Given the description of an element on the screen output the (x, y) to click on. 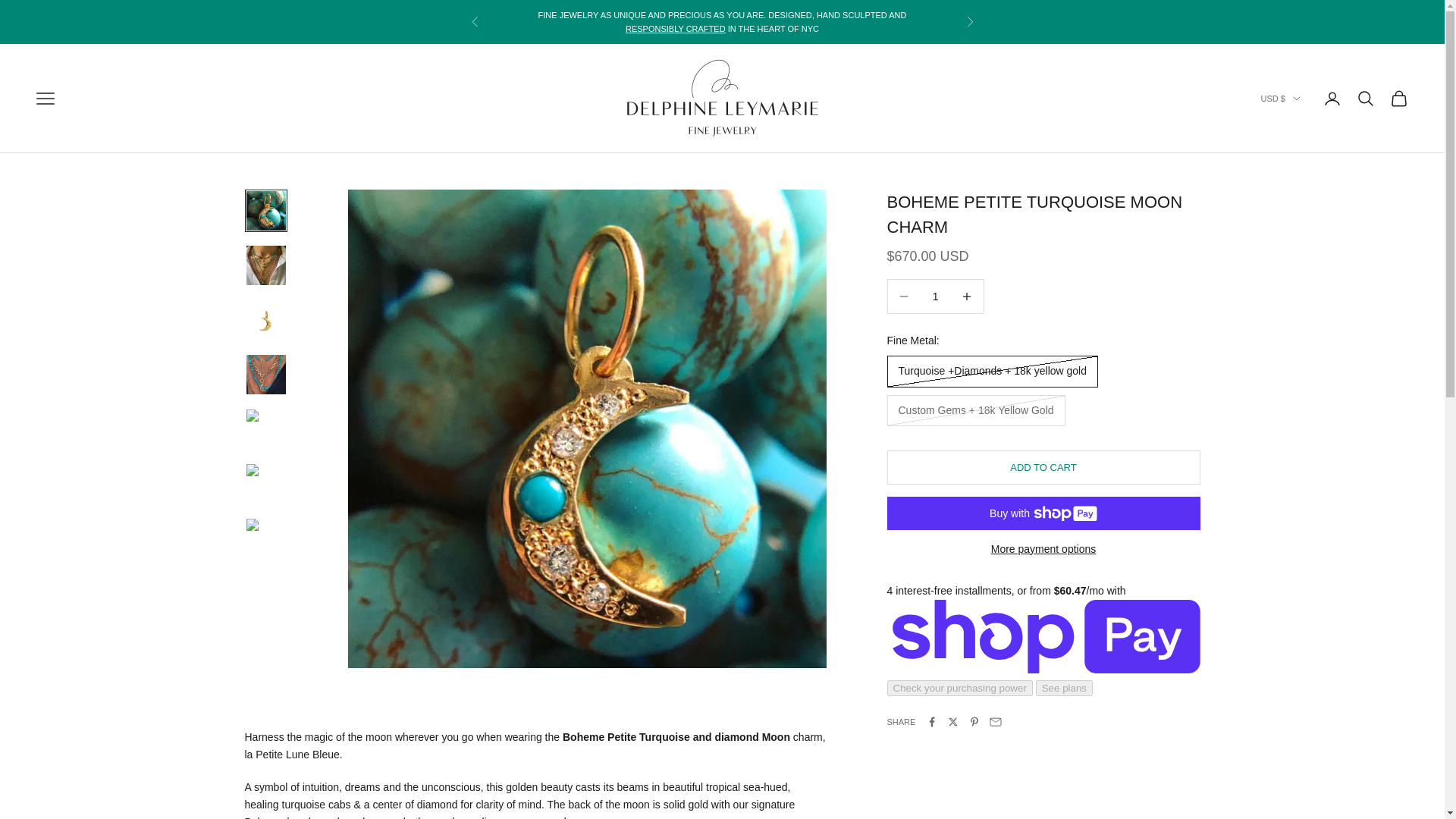
RESPONSIBLY CRAFTED (675, 28)
DELPHINE LEYMARIE (721, 98)
1 (935, 296)
Open navigation menu (45, 98)
